Given the description of an element on the screen output the (x, y) to click on. 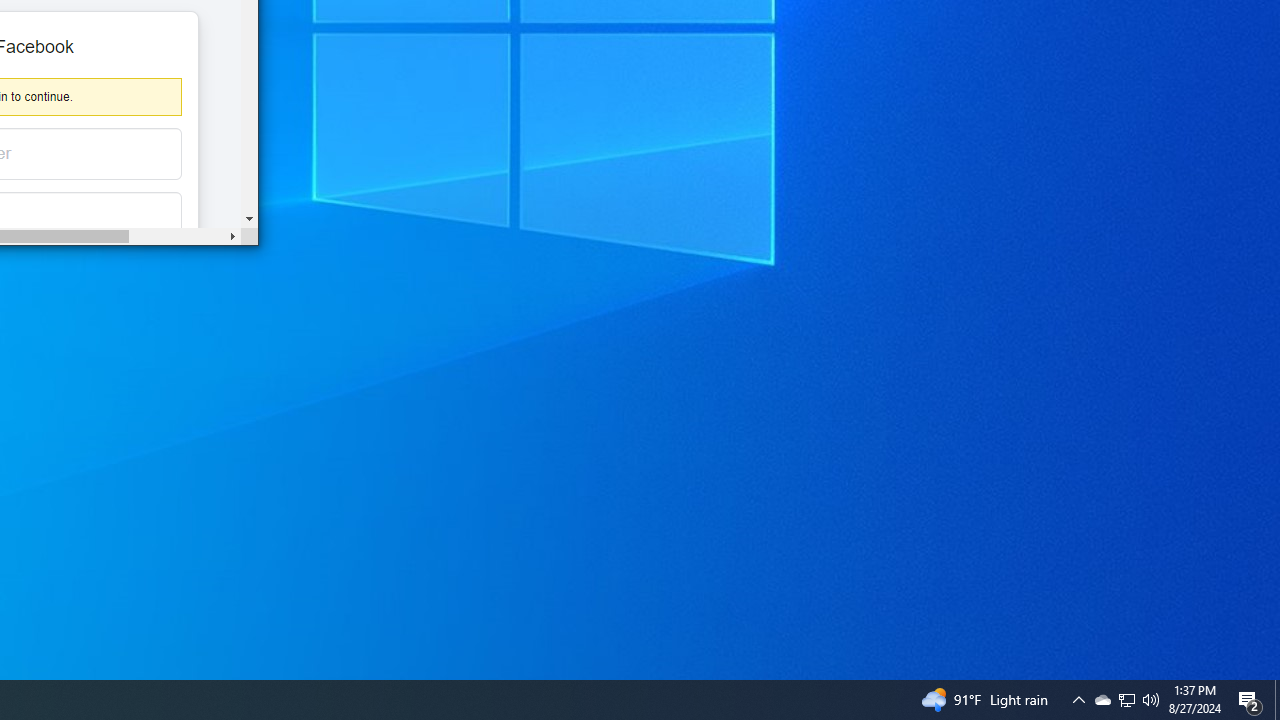
Show desktop (1277, 699)
Q2790: 100% (1151, 699)
User Promoted Notification Area (1126, 699)
Notification Chevron (1126, 699)
Action Center, 2 new notifications (1078, 699)
